Given the description of an element on the screen output the (x, y) to click on. 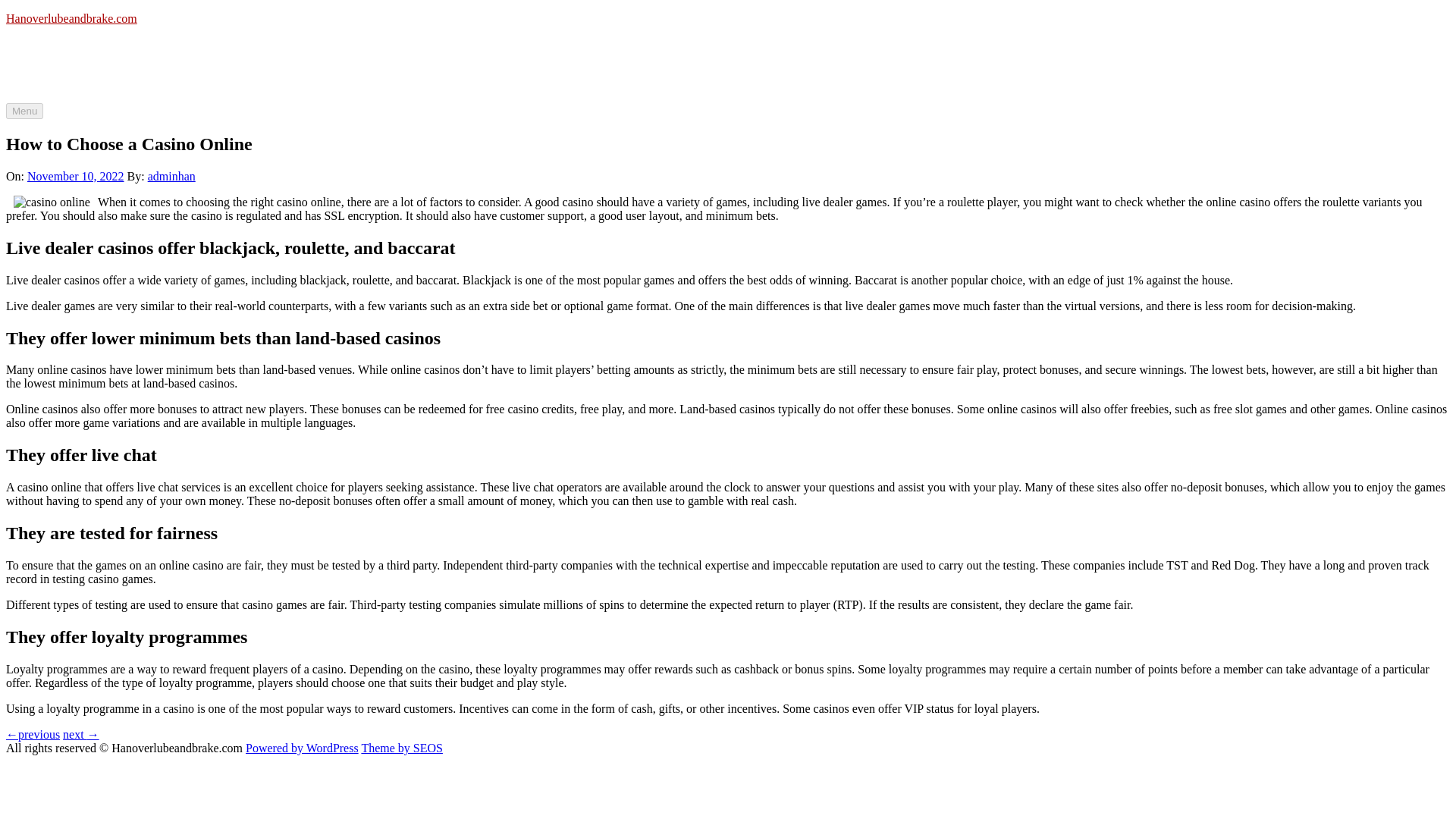
Hanoverlubeandbrake.com (70, 18)
November 10, 2022 (75, 175)
adminhan (171, 175)
Menu (24, 110)
